Given the description of an element on the screen output the (x, y) to click on. 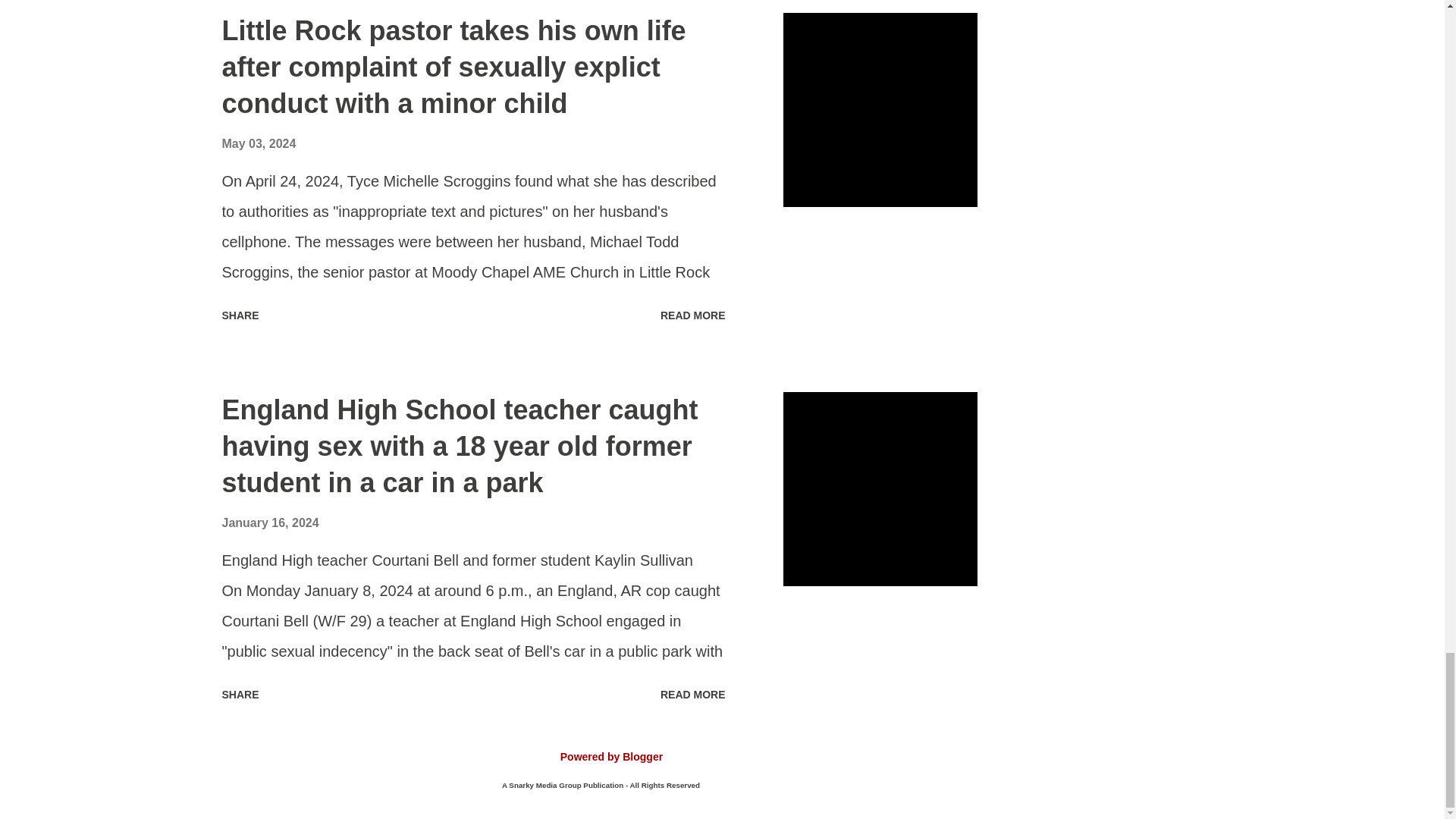
READ MORE (692, 315)
SHARE (239, 315)
SHARE (239, 694)
READ MORE (692, 694)
January 16, 2024 (269, 522)
May 03, 2024 (258, 143)
